Given the description of an element on the screen output the (x, y) to click on. 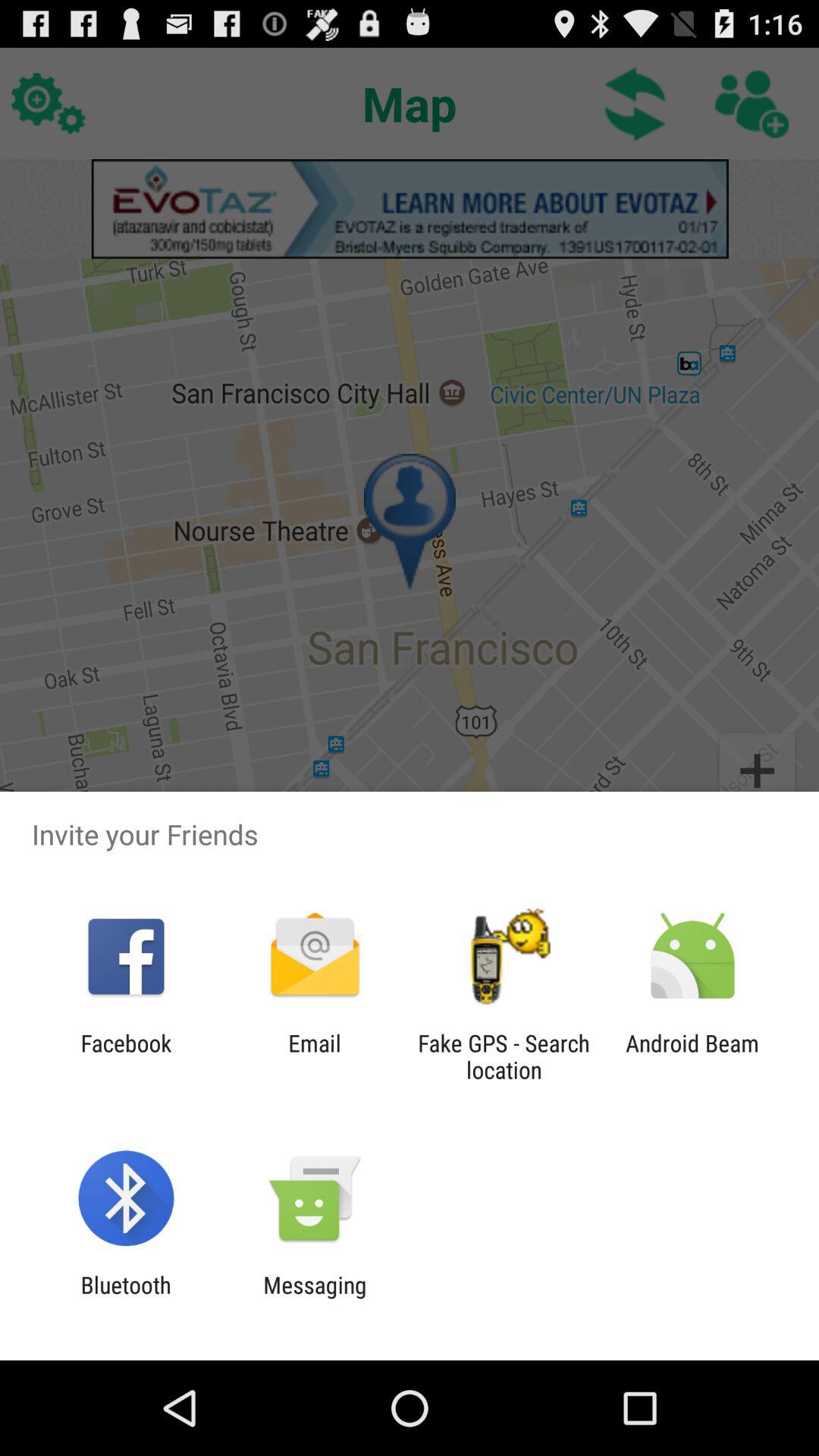
launch app next to fake gps search icon (314, 1056)
